Given the description of an element on the screen output the (x, y) to click on. 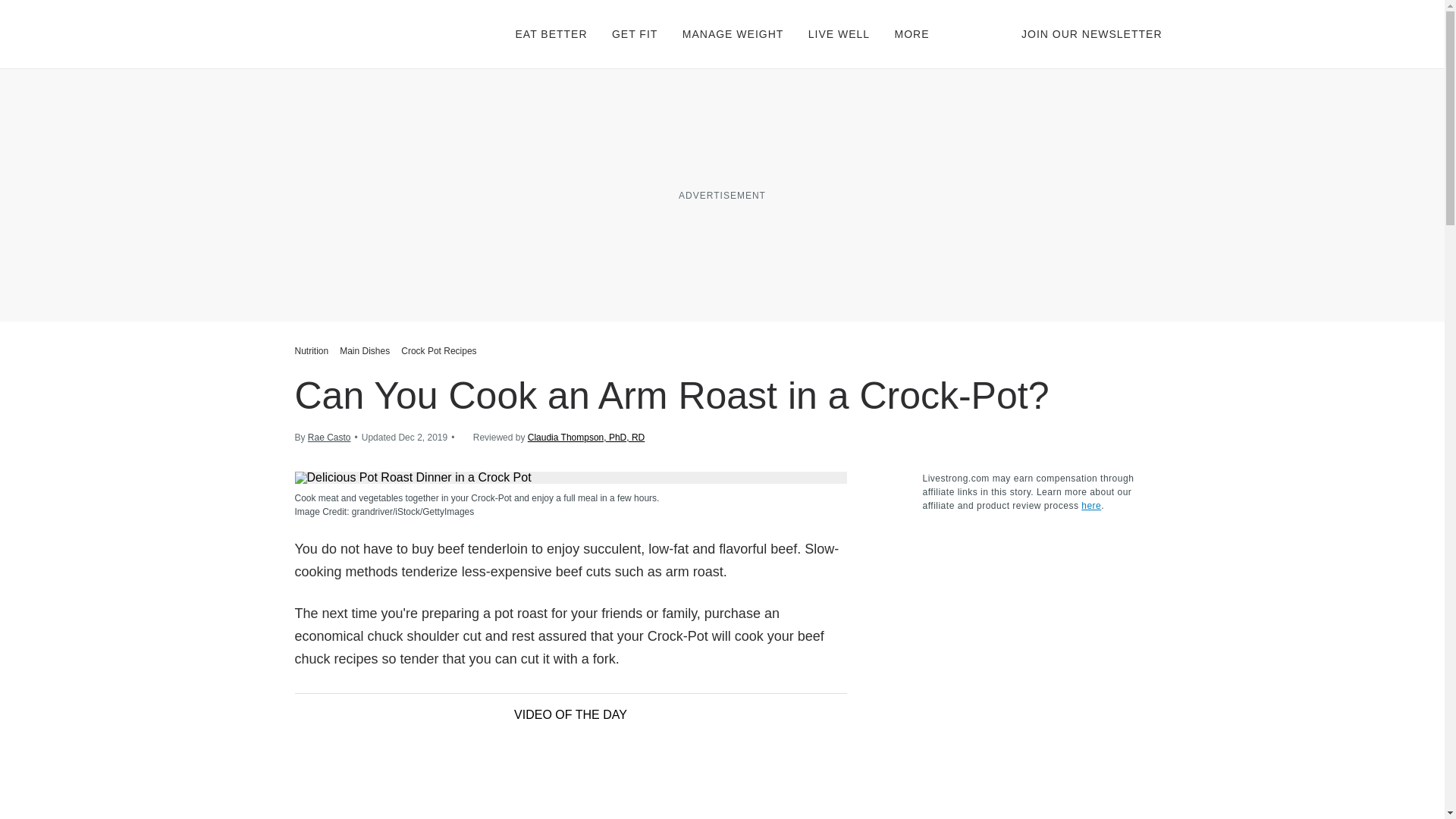
GET FIT (634, 33)
LIVE WELL (838, 33)
JOIN OUR NEWSLETTER (1091, 33)
Rae Casto (328, 437)
EAT BETTER (551, 33)
Nutrition (312, 350)
Crock Pot Recipes (438, 350)
Main Dishes (364, 350)
Learn more about our affiliate and product review process (1090, 505)
MANAGE WEIGHT (733, 33)
